Given the description of an element on the screen output the (x, y) to click on. 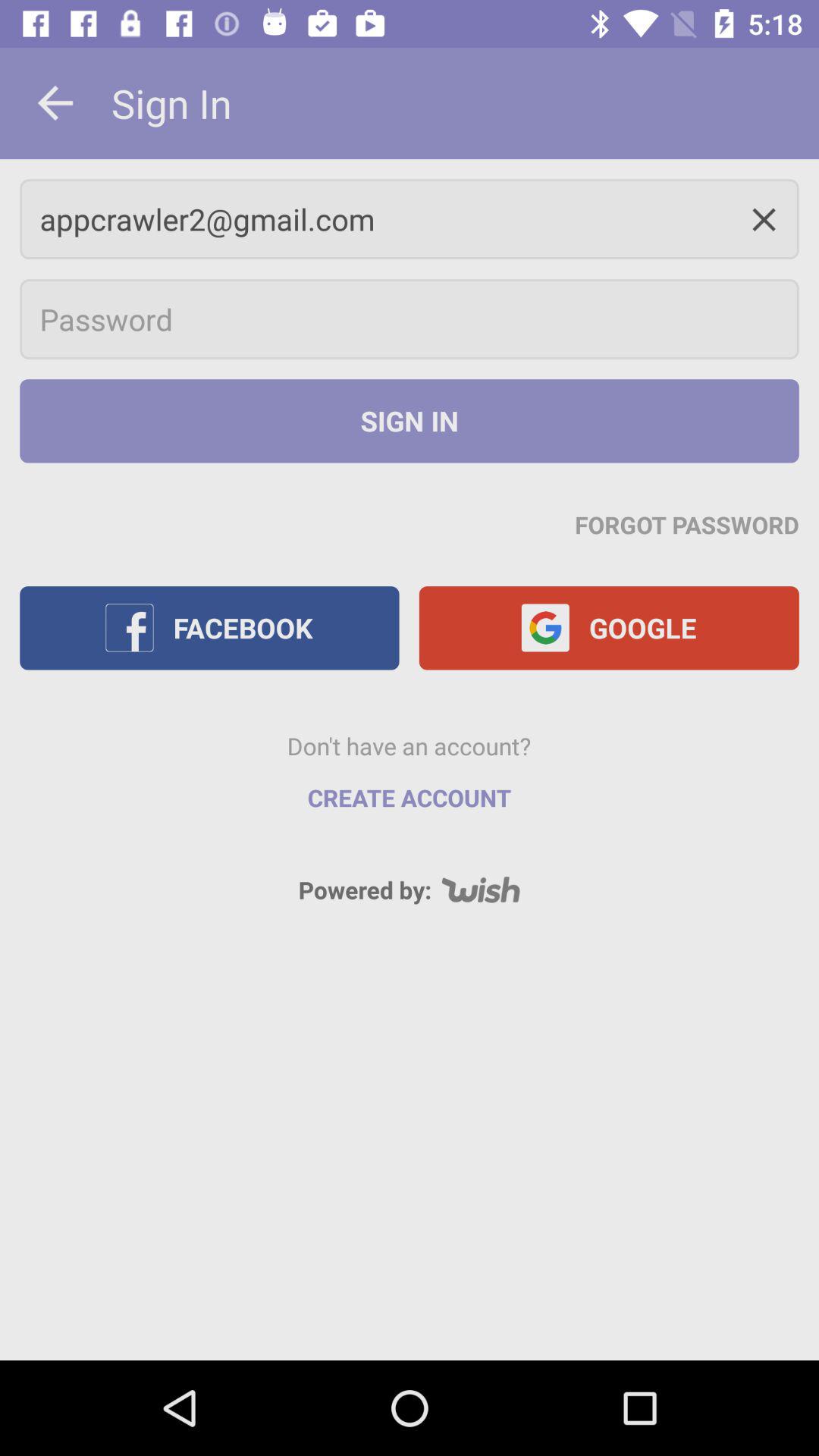
press the icon to the left of sign in icon (55, 103)
